Given the description of an element on the screen output the (x, y) to click on. 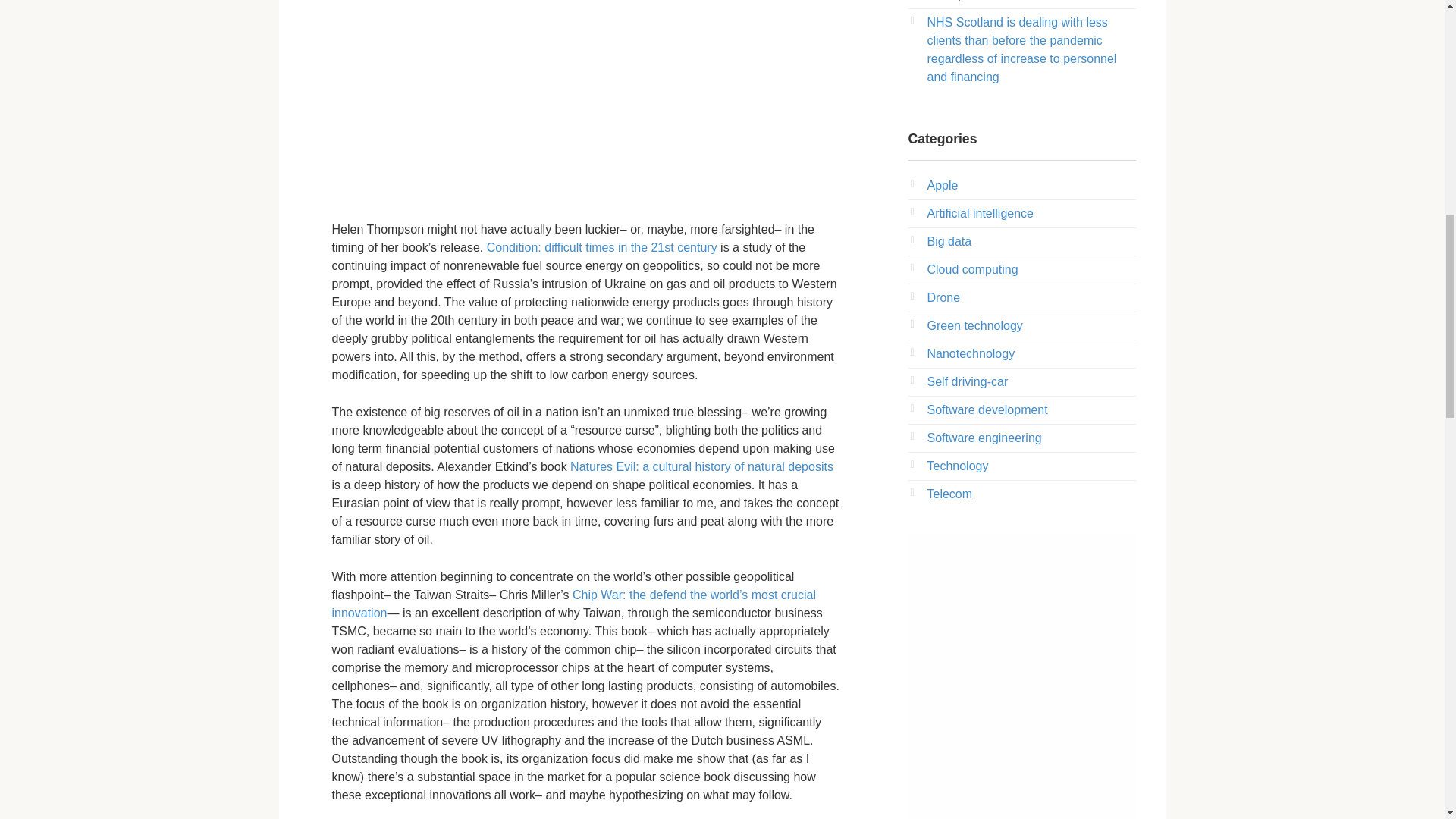
Artificial intelligence (979, 213)
Cloud computing (971, 269)
Software engineering (983, 437)
Software development (986, 409)
Apple (942, 185)
Natures Evil: a cultural history of natural deposits (701, 466)
Condition: difficult times in the 21st century (601, 246)
Telecom (949, 493)
Green technology (974, 325)
Self driving-car (966, 381)
Nanotechnology (970, 353)
Drone (942, 297)
Big data (948, 241)
